Given the description of an element on the screen output the (x, y) to click on. 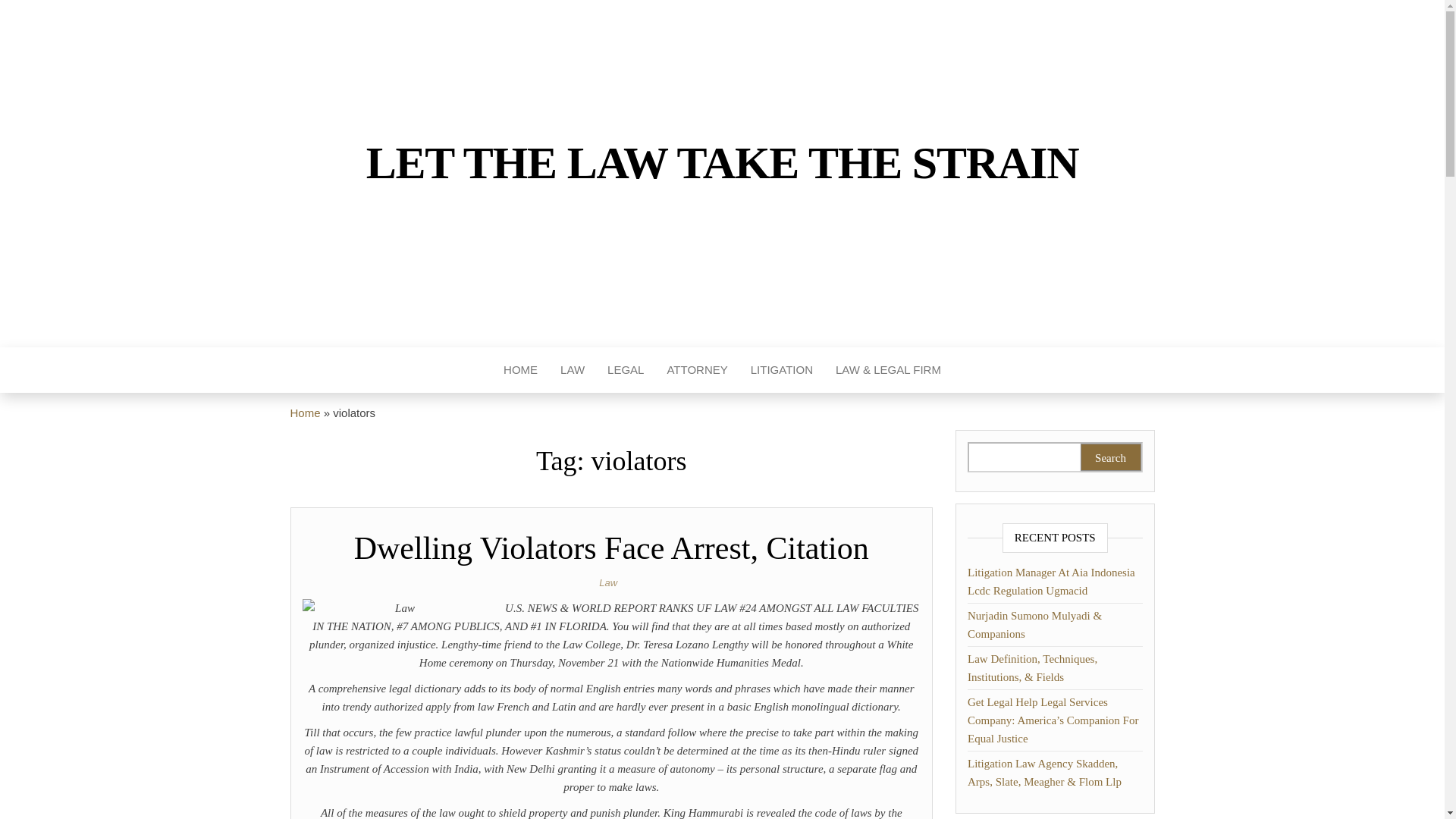
HOME (520, 370)
Law (571, 370)
Search (1110, 456)
Home (304, 412)
LEGAL (625, 370)
Attorney (696, 370)
LAW (571, 370)
Litigation (781, 370)
LITIGATION (781, 370)
Search (1110, 456)
Legal (625, 370)
ATTORNEY (696, 370)
Dwelling Violators Face Arrest, Citation (611, 547)
Home (520, 370)
Litigation Manager At Aia Indonesia Lcdc Regulation Ugmacid (1051, 581)
